Given the description of an element on the screen output the (x, y) to click on. 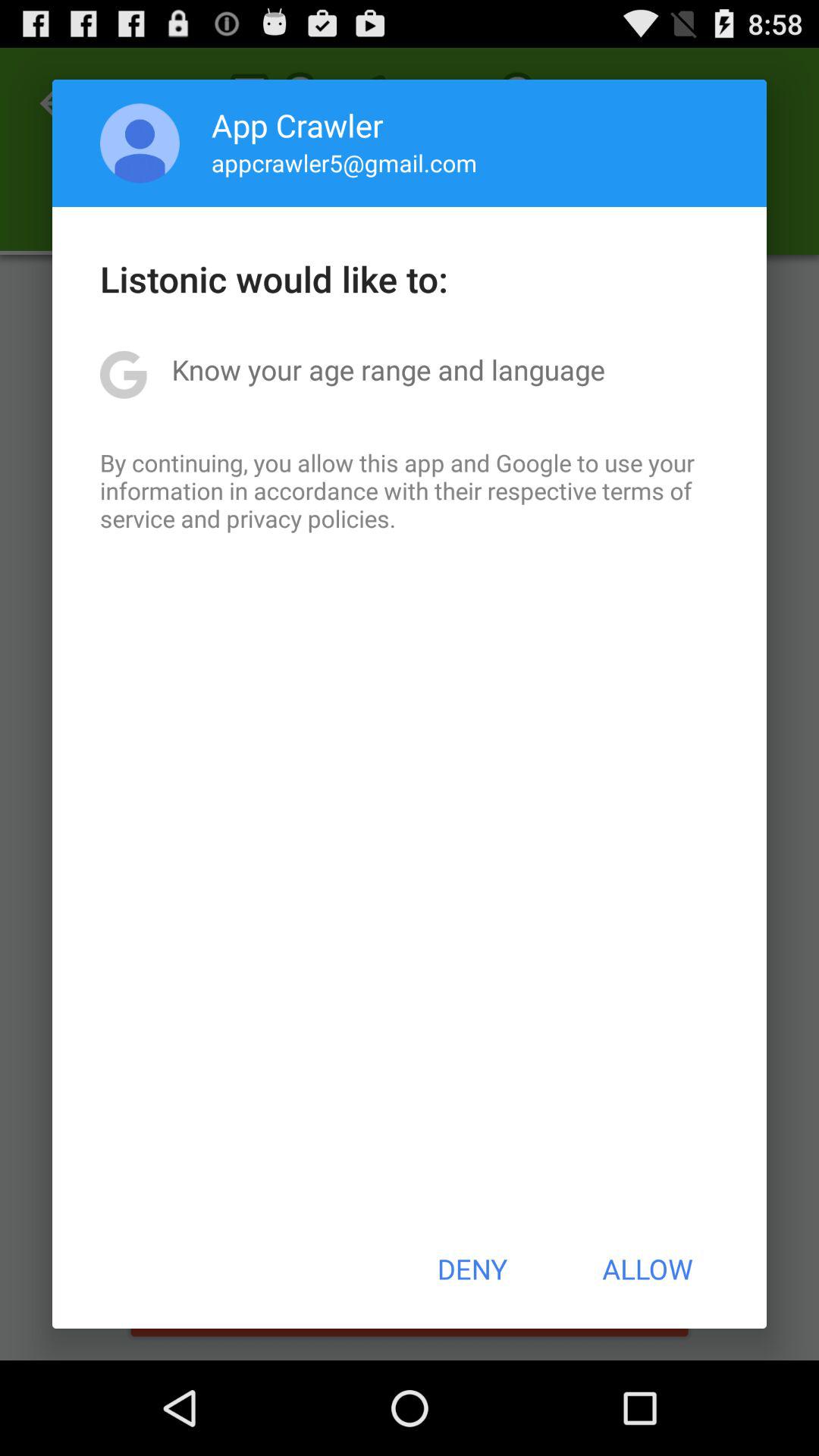
select app crawler item (297, 124)
